Given the description of an element on the screen output the (x, y) to click on. 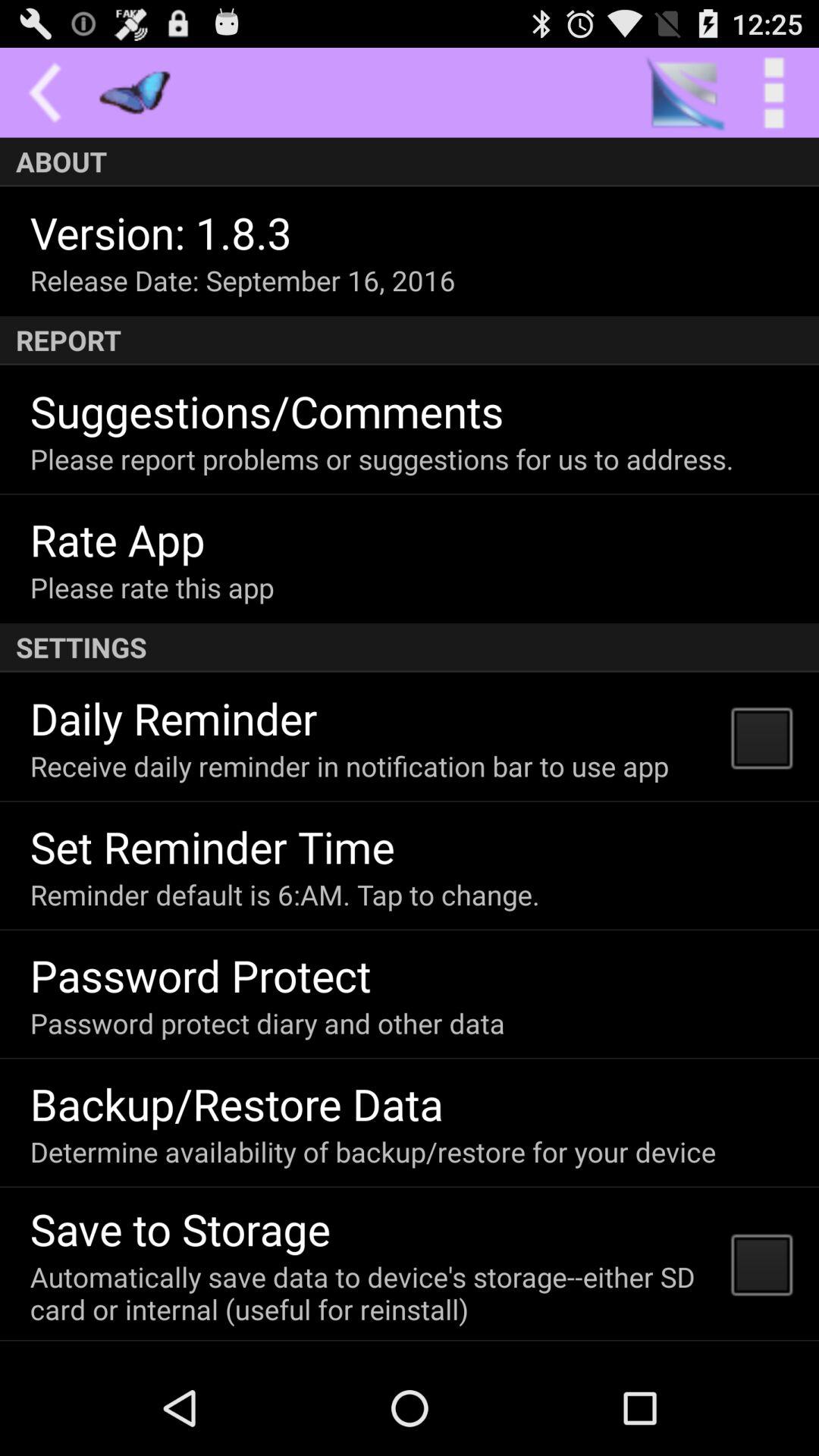
select the automatically save data app (370, 1293)
